Given the description of an element on the screen output the (x, y) to click on. 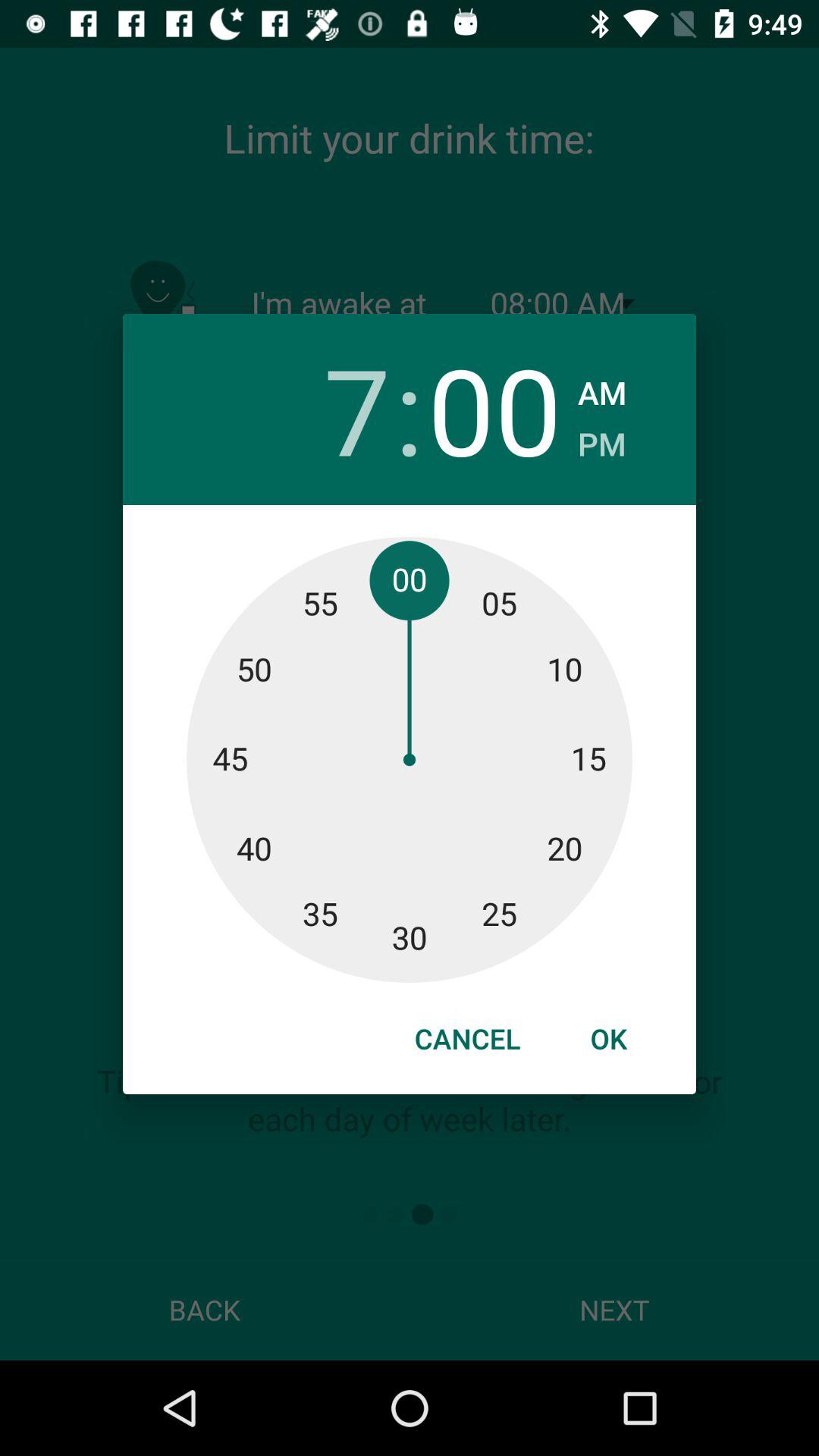
turn off the item to the left of the ok icon (467, 1038)
